Given the description of an element on the screen output the (x, y) to click on. 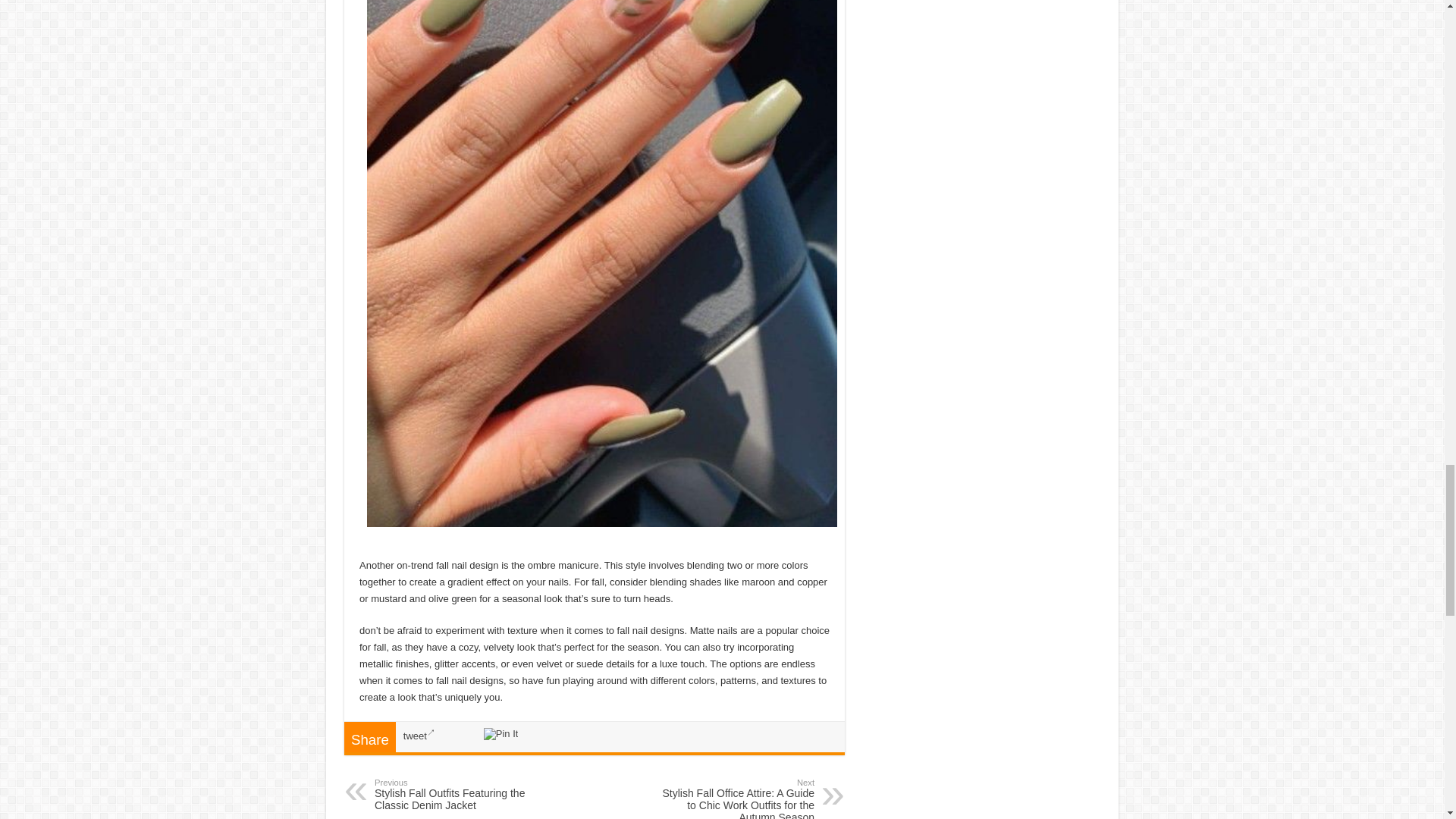
Pin It (500, 734)
Elegant and Trendy Fall Nail Designs for the Season (601, 249)
tweet (419, 736)
